Given the description of an element on the screen output the (x, y) to click on. 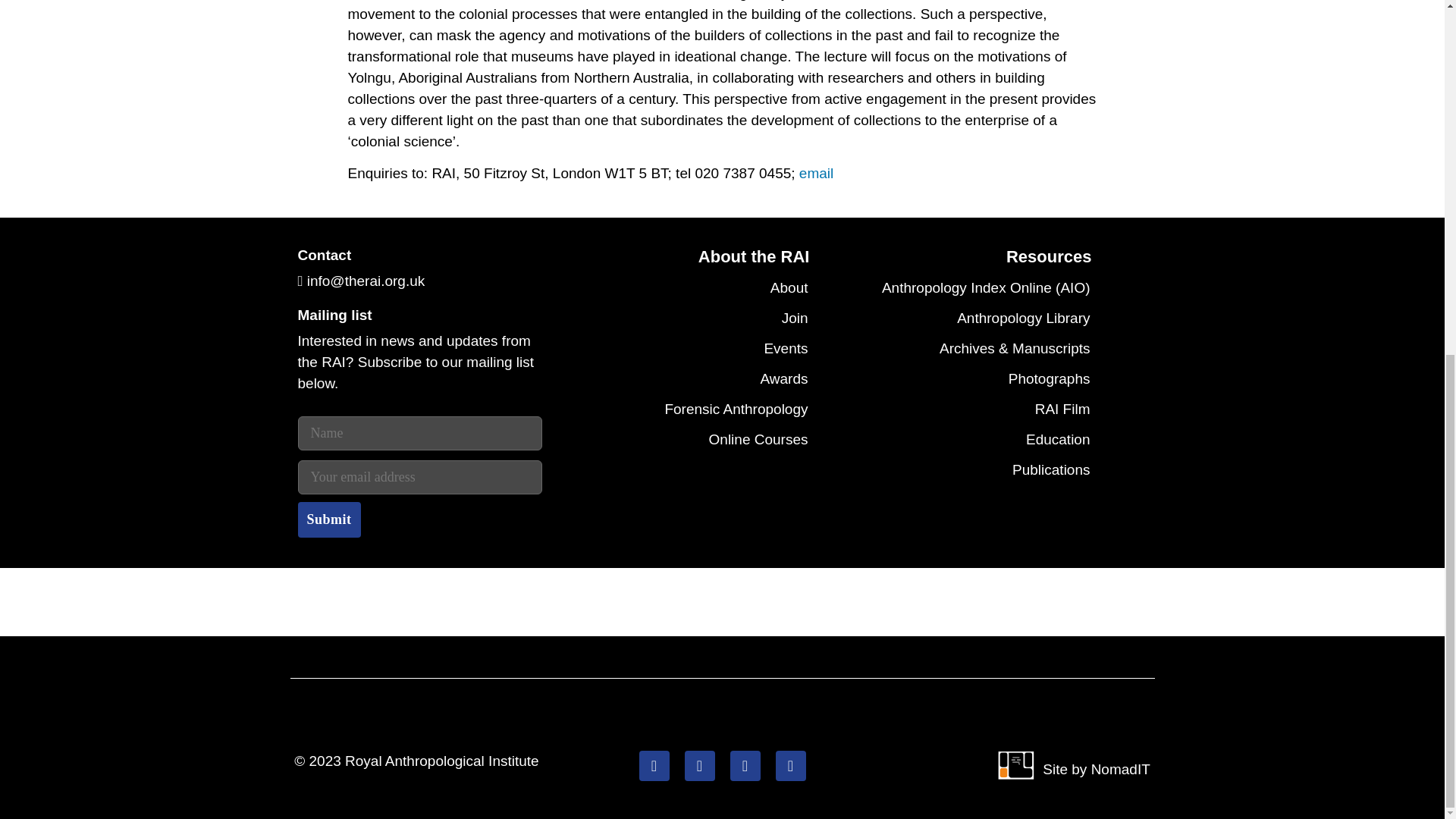
Submit (328, 519)
